Given the description of an element on the screen output the (x, y) to click on. 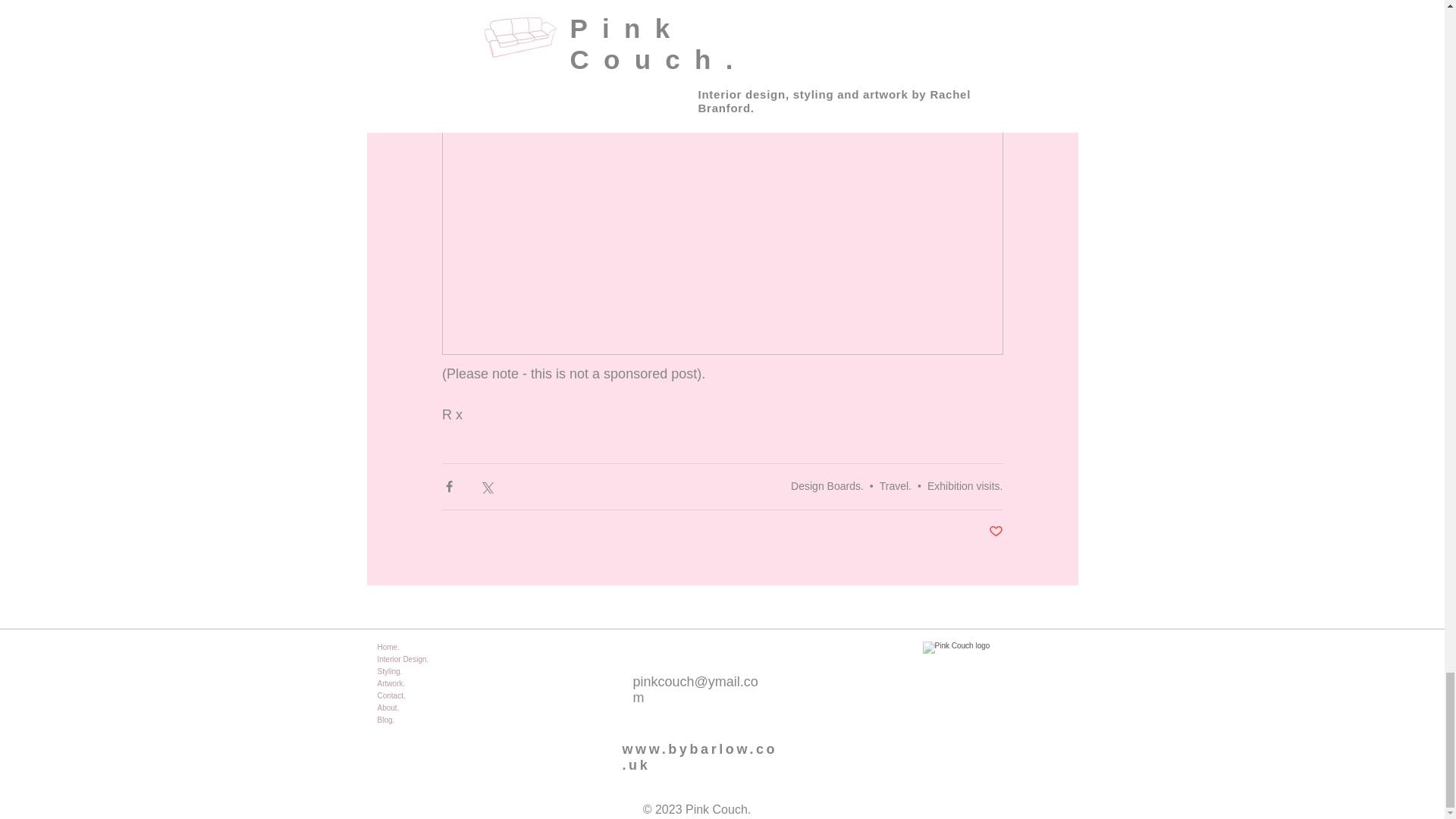
About. (432, 707)
www.bybarlow.co.uk (699, 757)
Home. (432, 647)
Styling. (432, 671)
Travel. (895, 485)
Post not marked as liked (995, 531)
Design Boards. (826, 485)
Artwork. (432, 684)
Interior Design. (432, 659)
Contact. (432, 695)
